Given the description of an element on the screen output the (x, y) to click on. 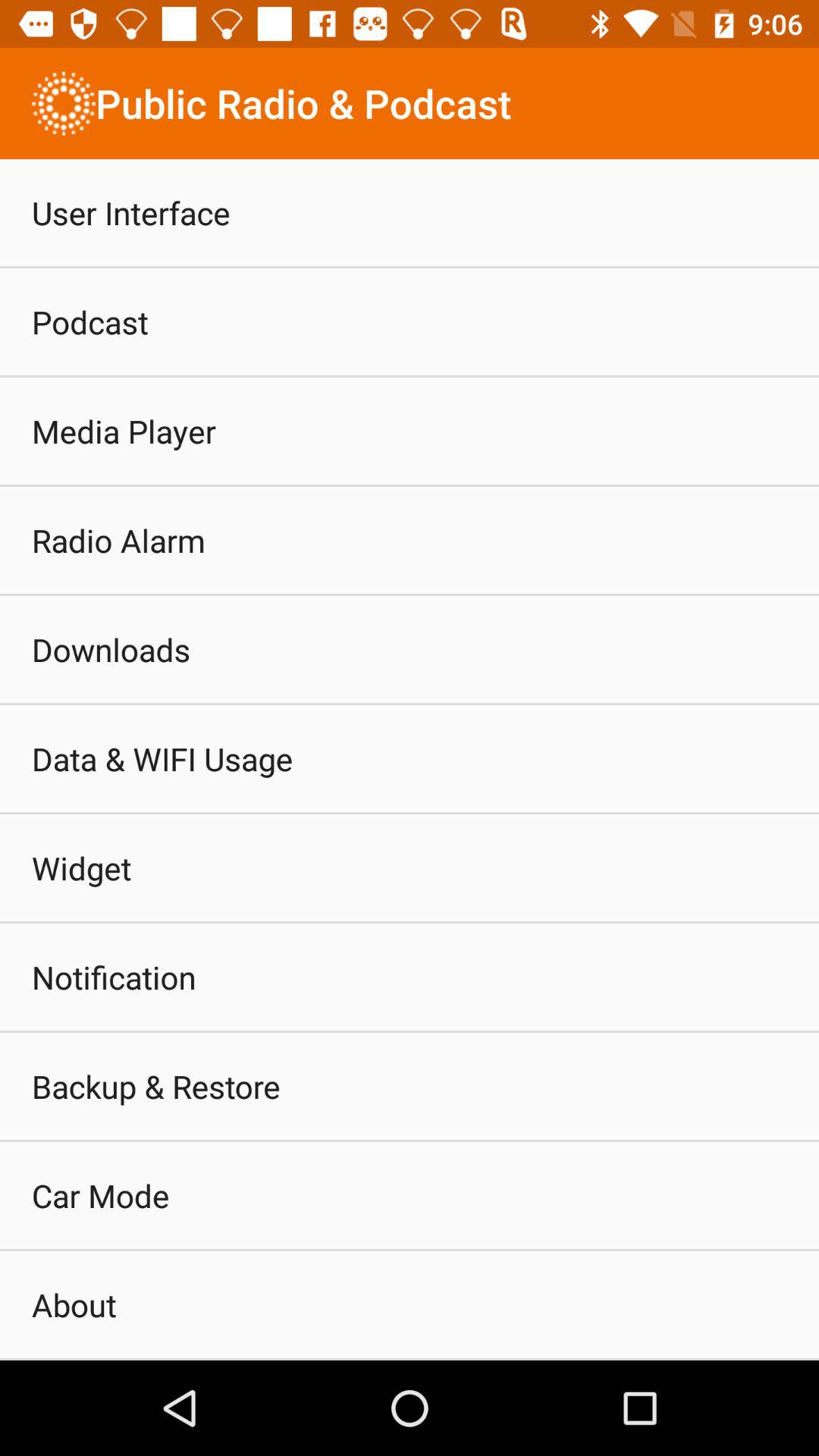
jump to the backup & restore icon (155, 1085)
